Given the description of an element on the screen output the (x, y) to click on. 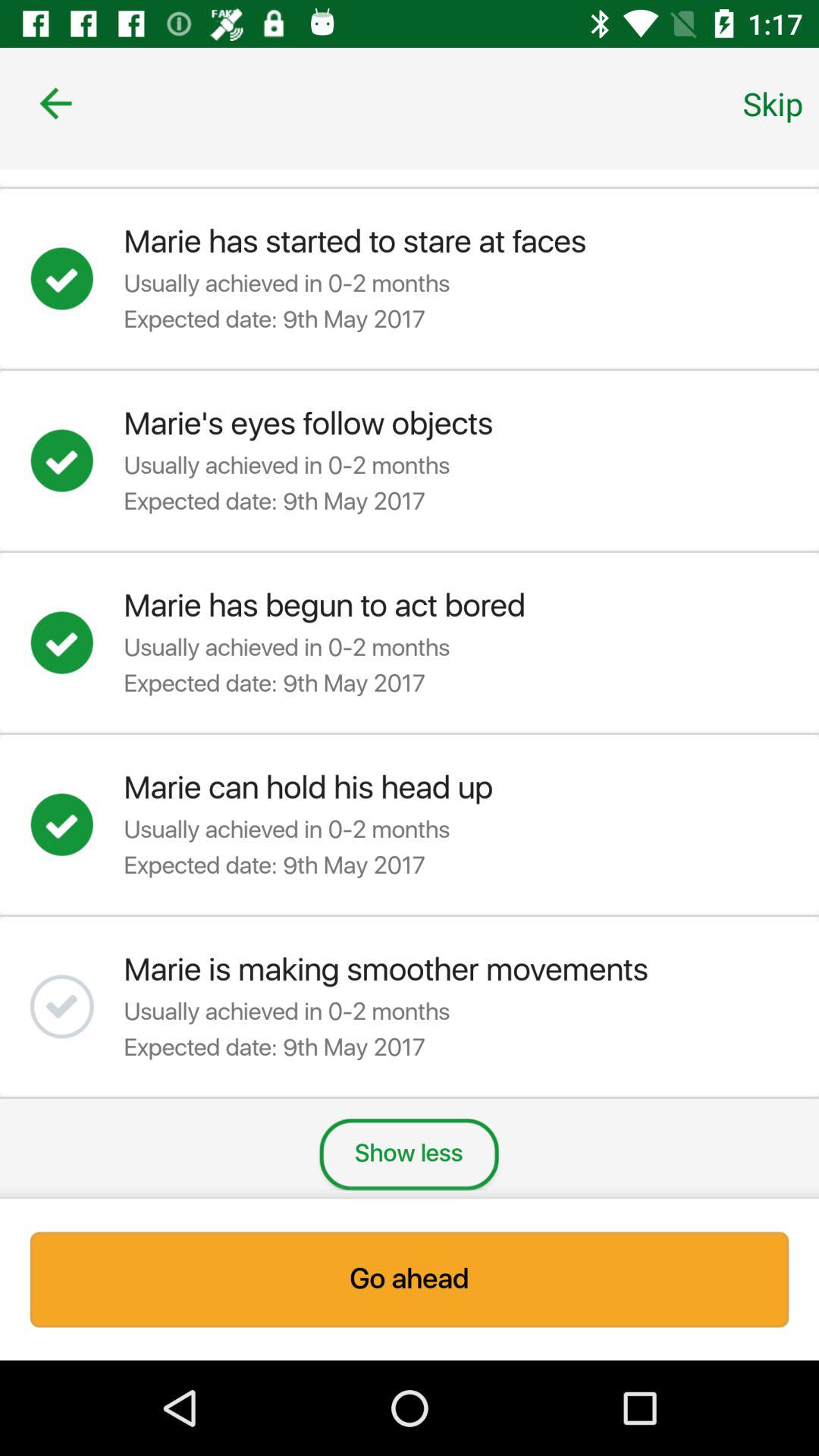
turn on go ahead icon (409, 1279)
